Given the description of an element on the screen output the (x, y) to click on. 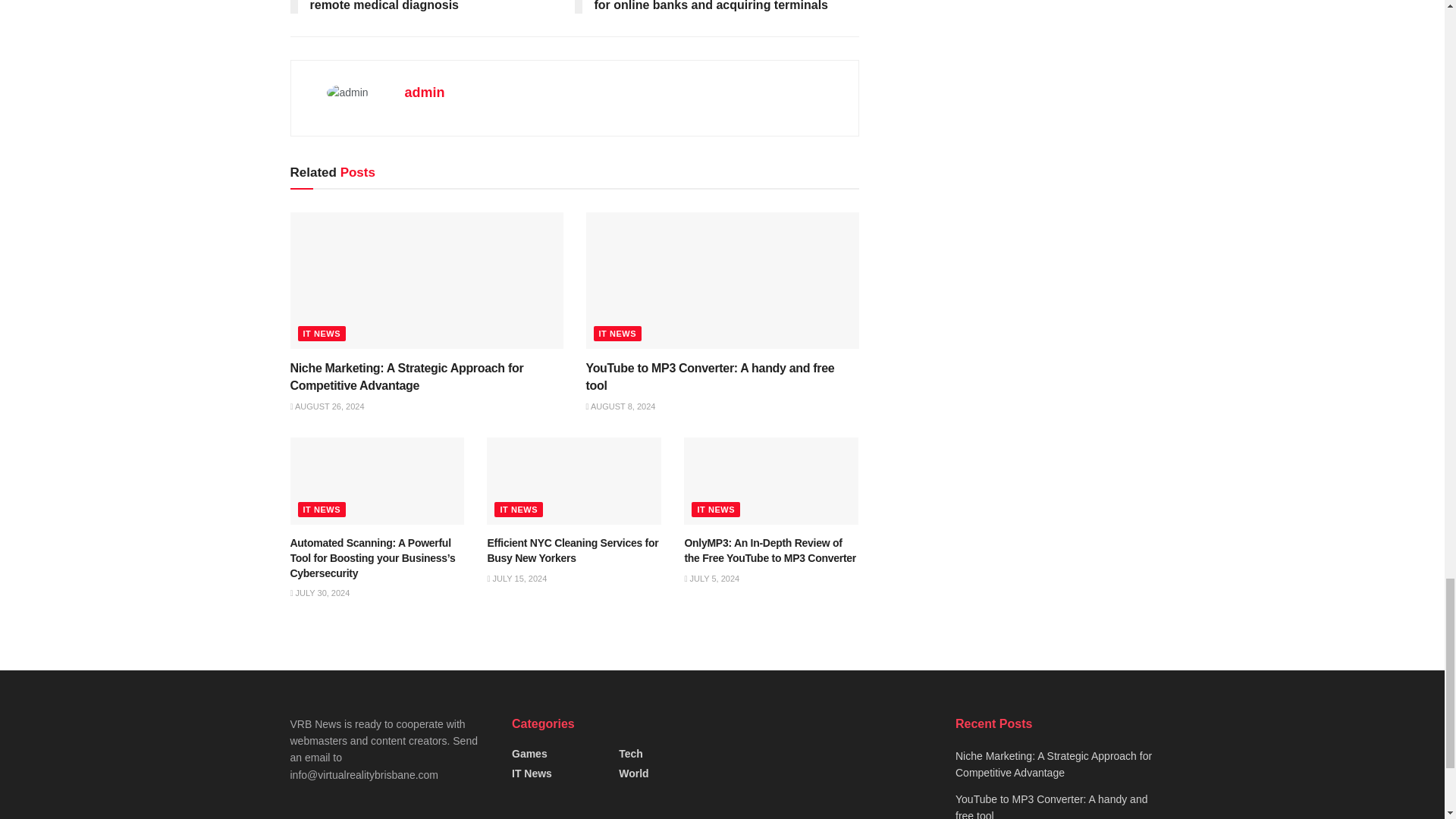
AUGUST 26, 2024 (326, 406)
YouTube to MP3 Converter: A handy and free tool (709, 376)
admin (424, 92)
AUGUST 8, 2024 (620, 406)
IT NEWS (617, 333)
IT NEWS (321, 333)
